Given the description of an element on the screen output the (x, y) to click on. 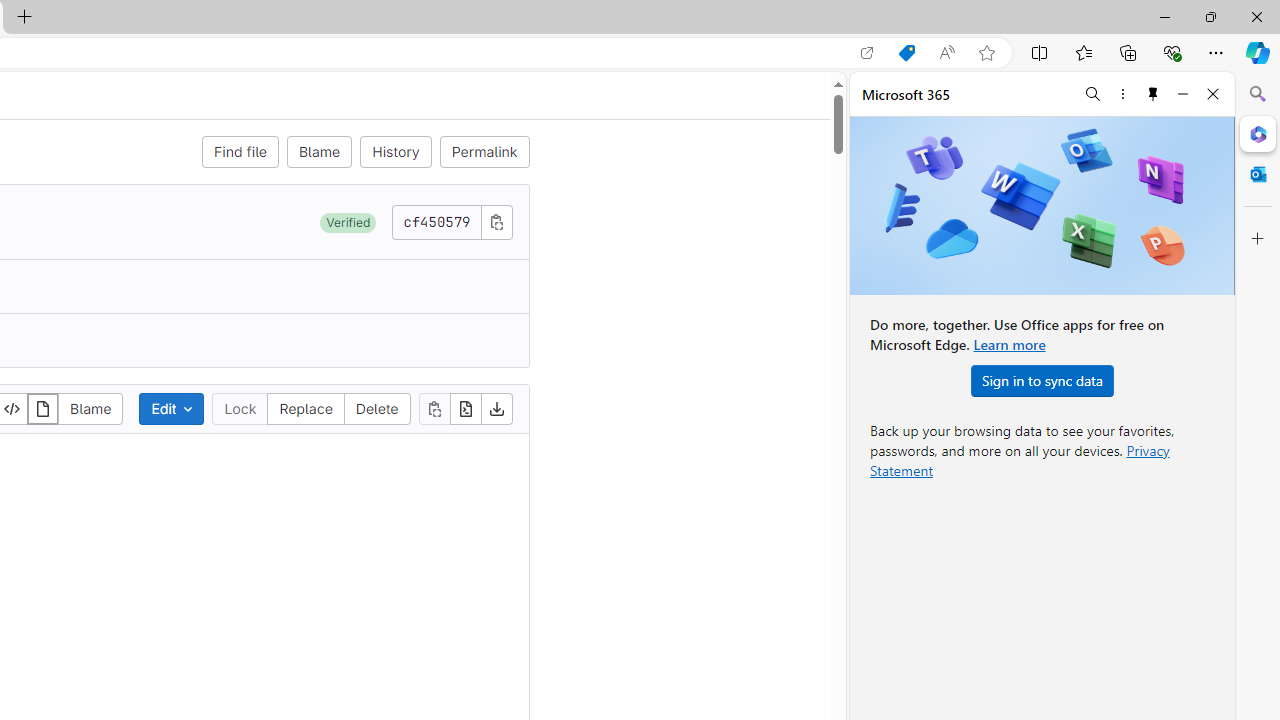
Privacy Statement (1019, 460)
Blame (319, 151)
Delete (376, 408)
Learn more about Microsoft Office. (1008, 344)
Blame (90, 408)
Edit (171, 408)
Copy commit SHA (496, 221)
Sign in to sync data (1042, 380)
